Given the description of an element on the screen output the (x, y) to click on. 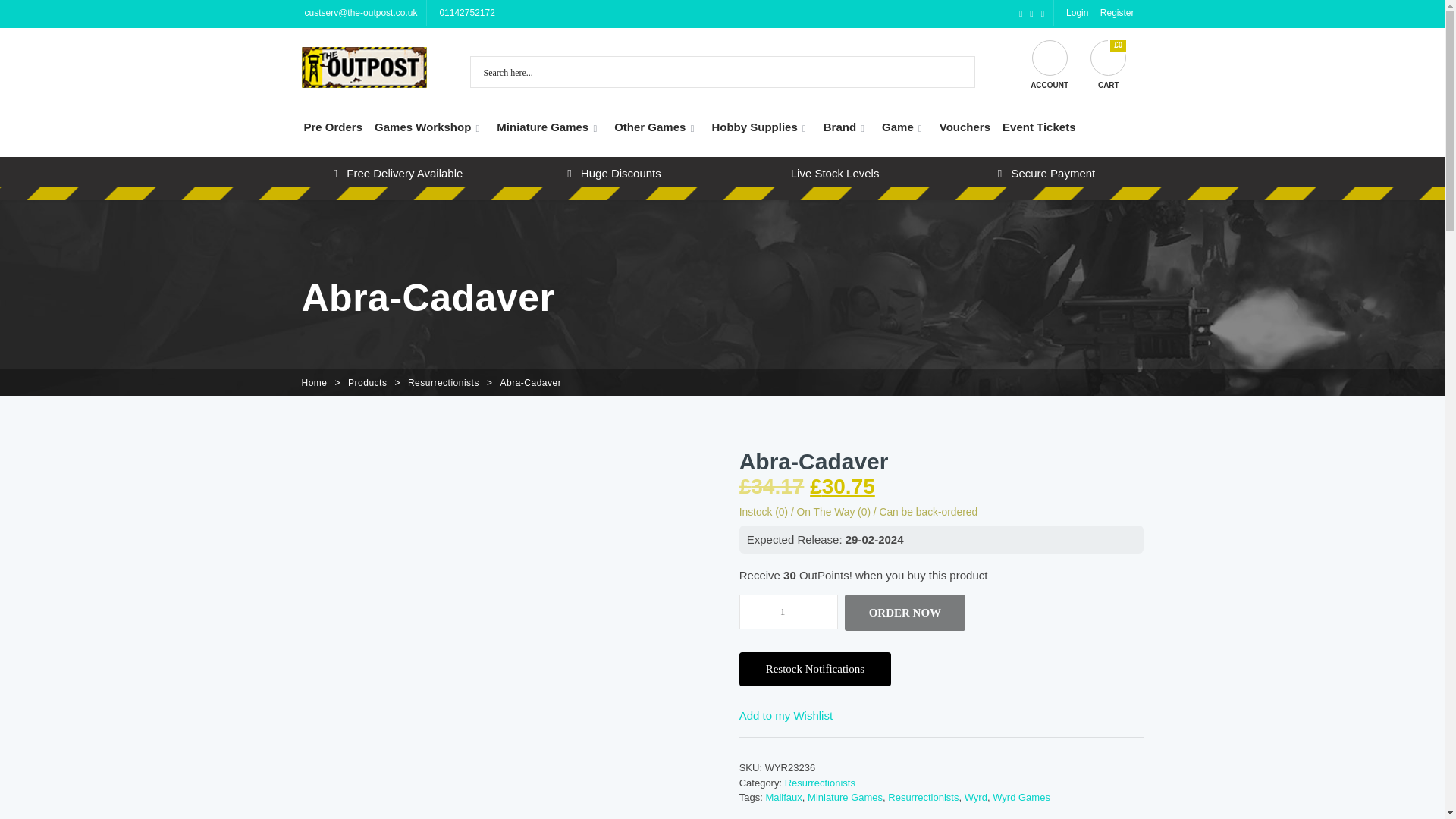
Products (367, 382)
Restock Notifications (815, 668)
Abra-Cadaver (529, 382)
Pre Orders (332, 126)
01142752172 (464, 12)
Register (1115, 12)
Home (314, 382)
Games Workshop (429, 126)
1 (788, 611)
Login (1074, 12)
